Given the description of an element on the screen output the (x, y) to click on. 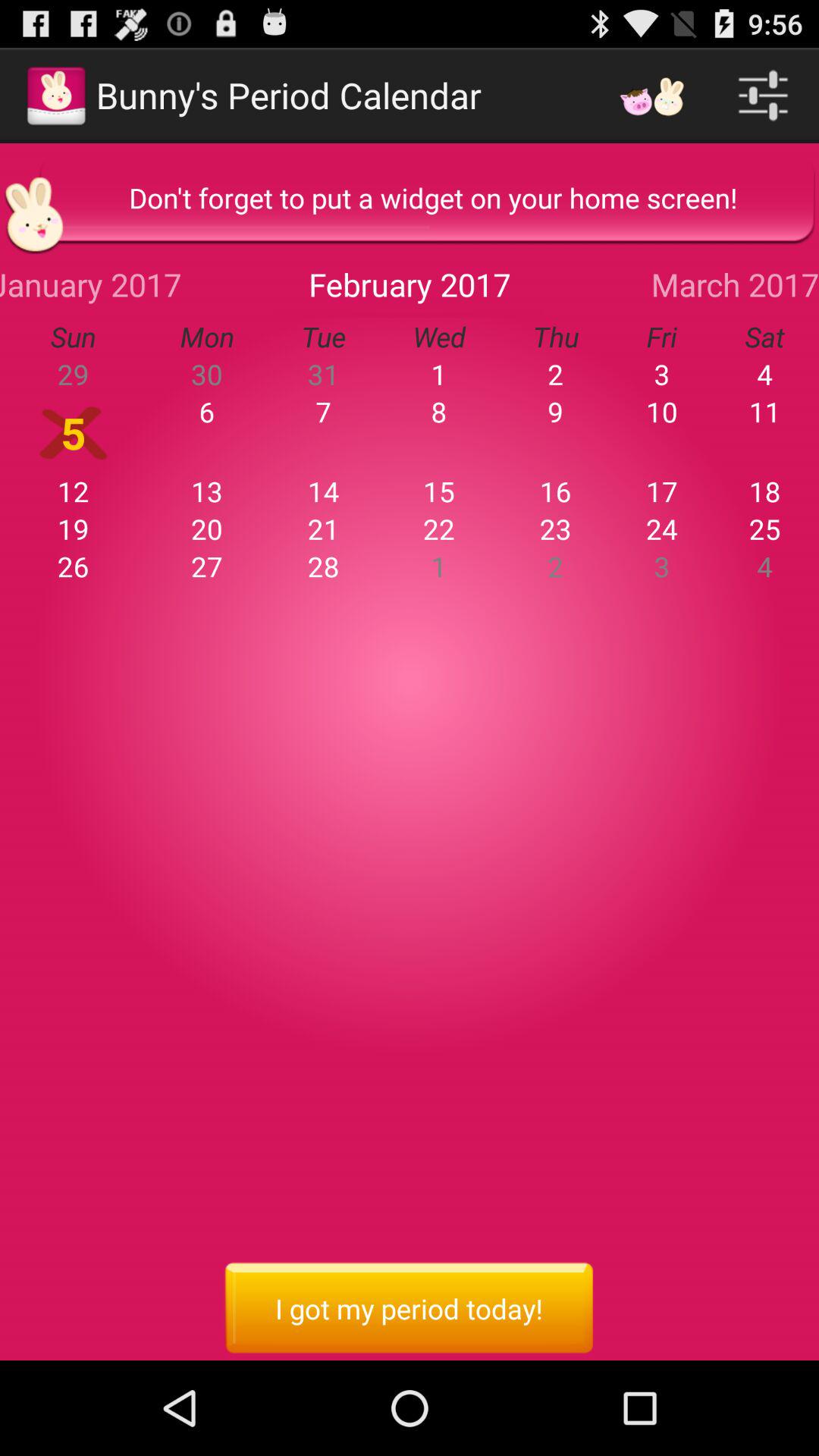
click the item next to the 2 app (661, 411)
